Given the description of an element on the screen output the (x, y) to click on. 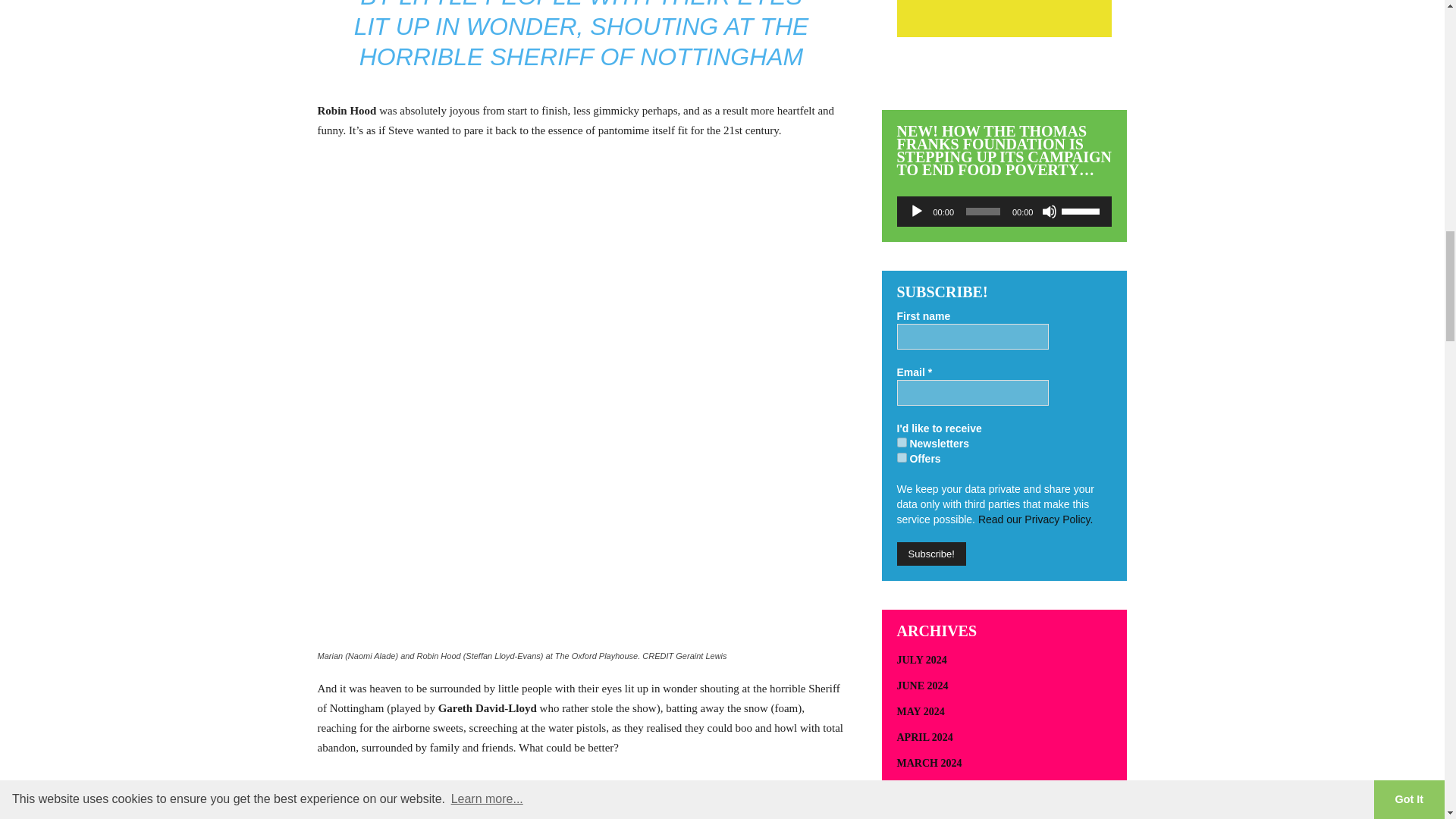
Subscribe! (930, 553)
3 (900, 442)
4 (900, 457)
